Given the description of an element on the screen output the (x, y) to click on. 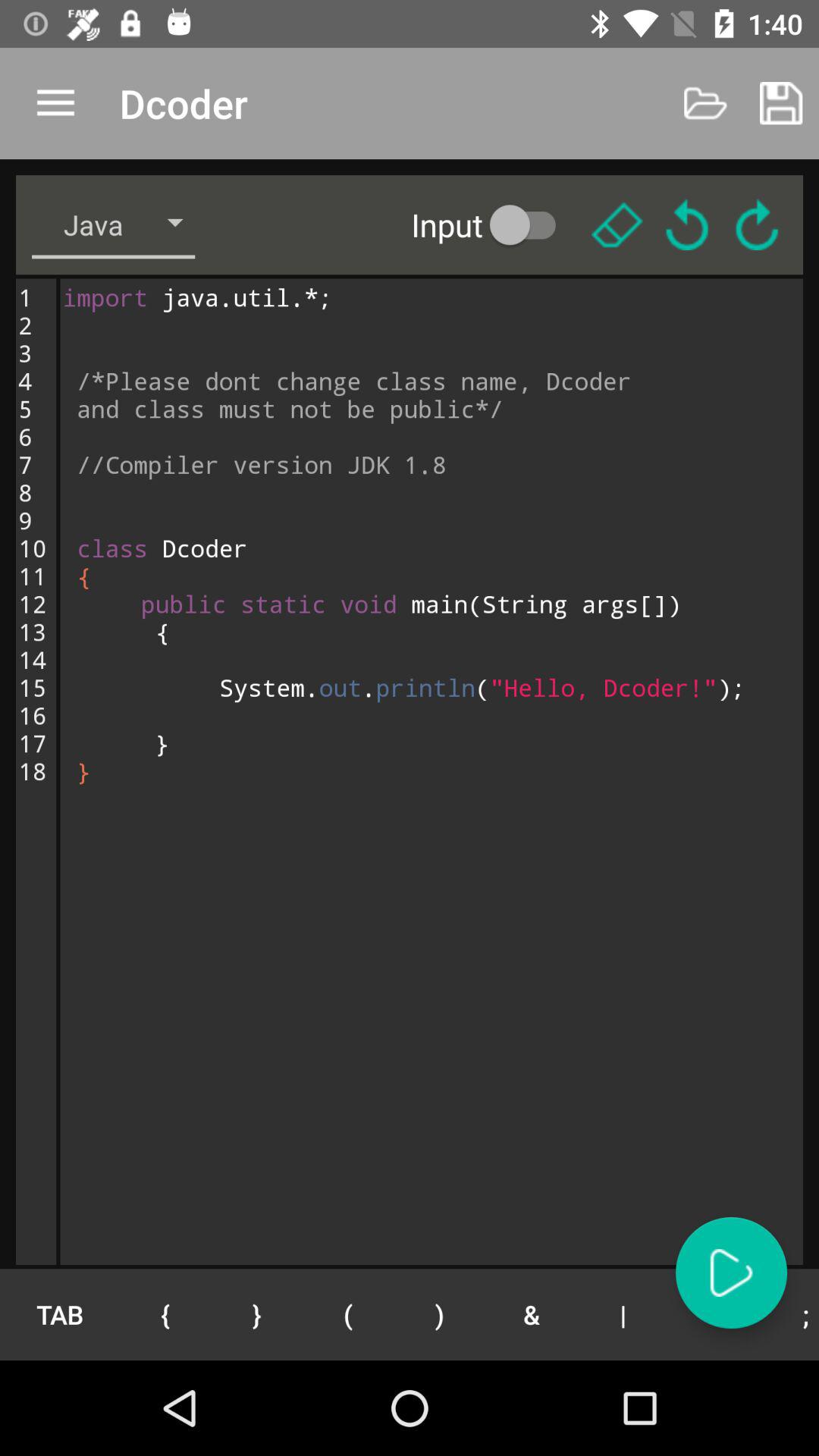
launch item next to the } item (165, 1314)
